Given the description of an element on the screen output the (x, y) to click on. 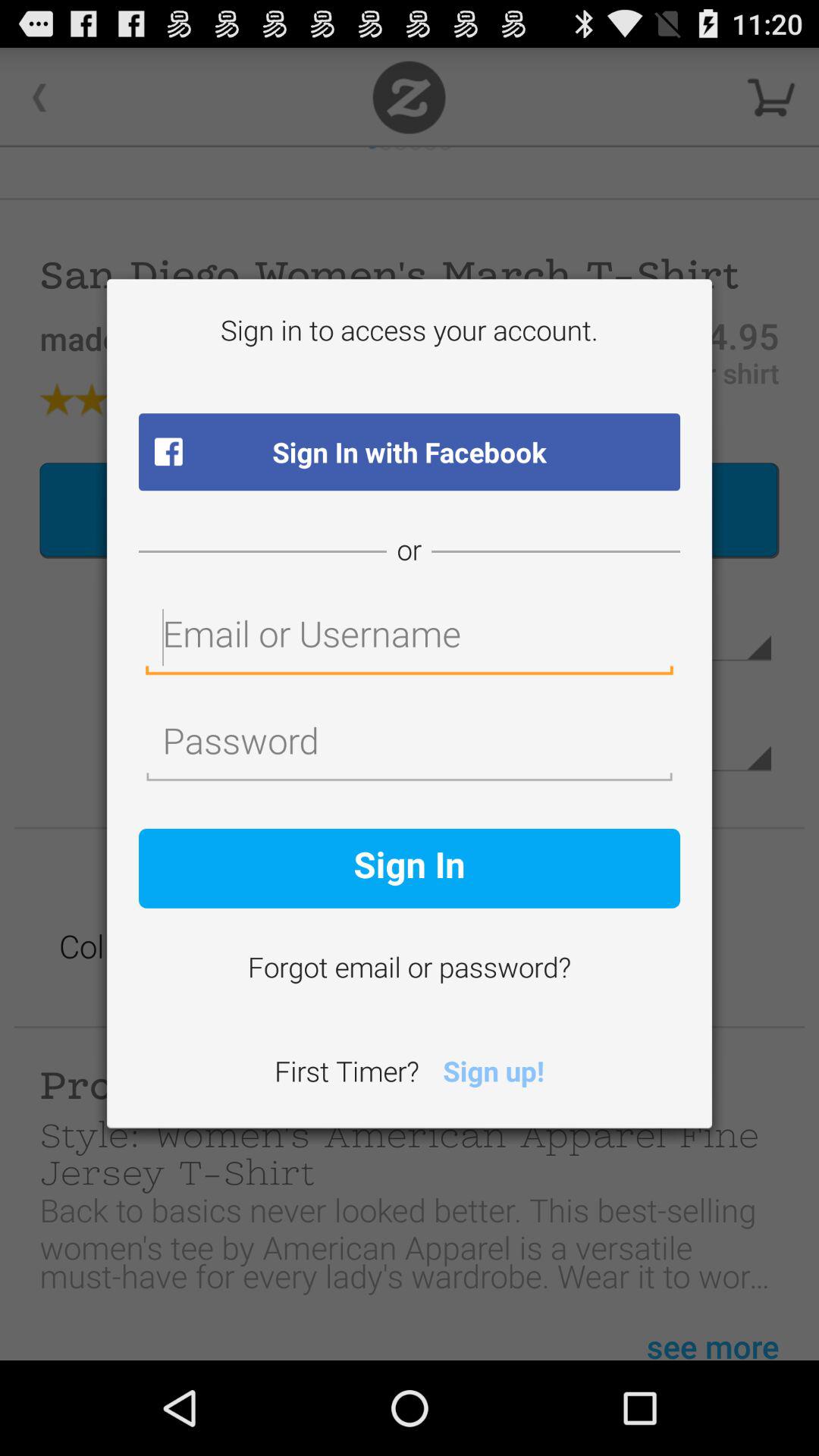
open the icon above the first timer? item (409, 970)
